Given the description of an element on the screen output the (x, y) to click on. 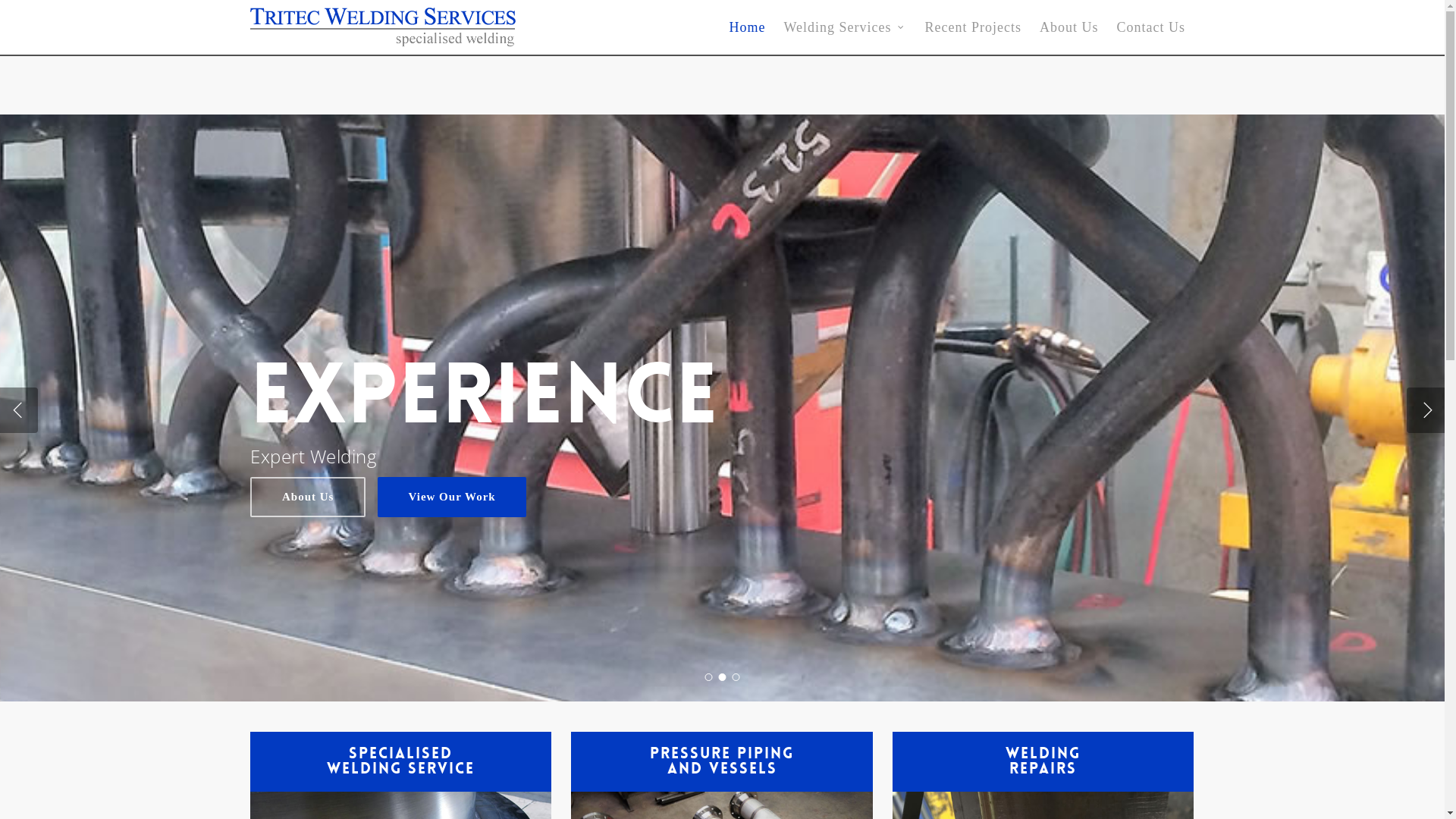
Welding Services Element type: text (844, 27)
View Our Work Element type: text (451, 496)
About Us Element type: text (307, 496)
Recent Projects Element type: text (973, 27)
Contact Us Element type: text (1150, 27)
About Us Element type: text (1068, 27)
Home Element type: text (746, 27)
